Given the description of an element on the screen output the (x, y) to click on. 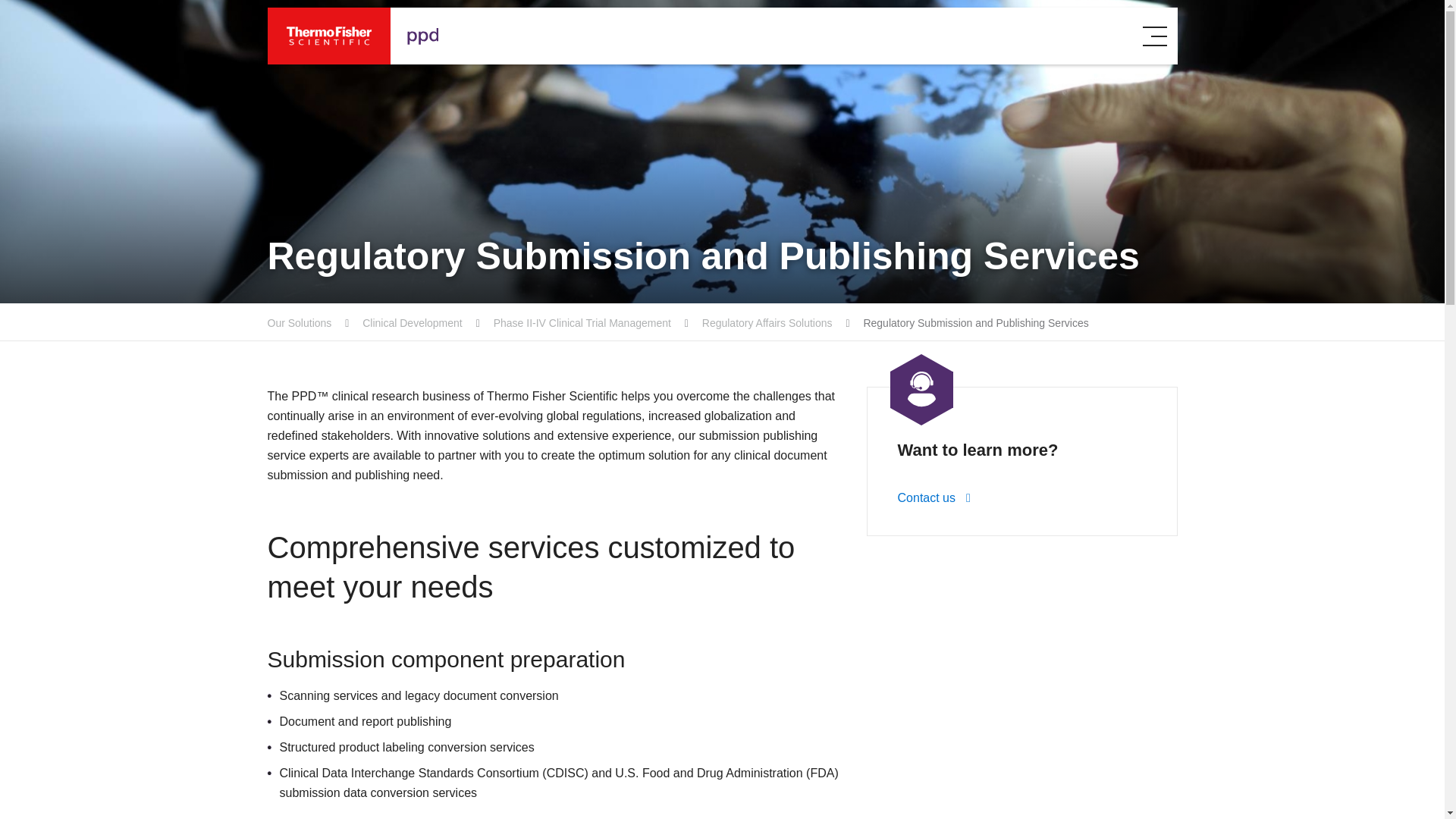
Main Menu (1155, 35)
PPD (380, 35)
